Given the description of an element on the screen output the (x, y) to click on. 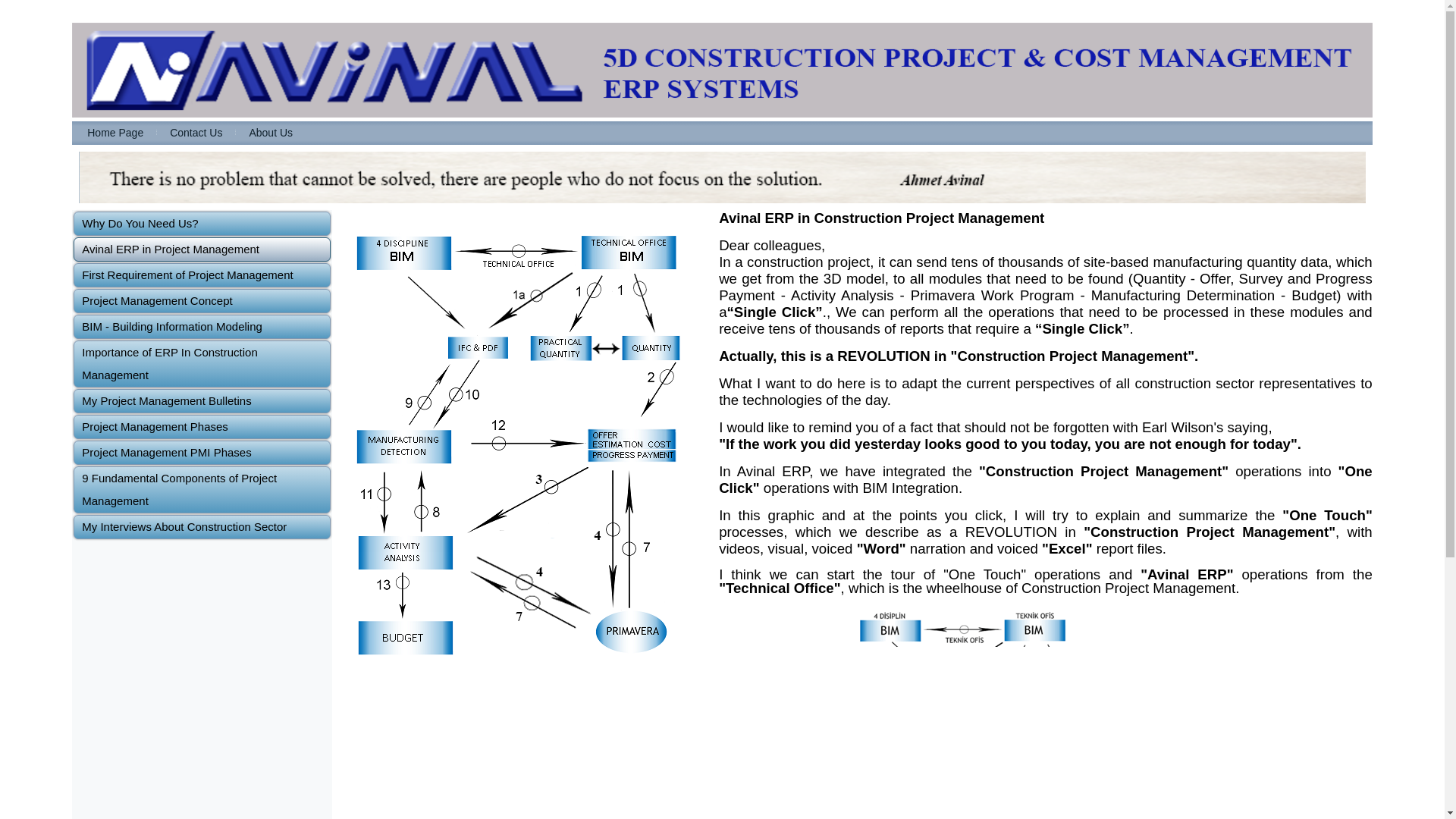
About Us (270, 132)
First Requirement of Project Management (202, 274)
Avinal ERP in Project Management (202, 249)
Project Management Concept (202, 300)
Contact Us (195, 132)
BIM - Building Information Modeling (202, 326)
Importance of ERP In Construction Management (202, 363)
My Project Management Bulletins (202, 401)
Why Do You Need Us? (202, 223)
Home Page (114, 132)
